Given the description of an element on the screen output the (x, y) to click on. 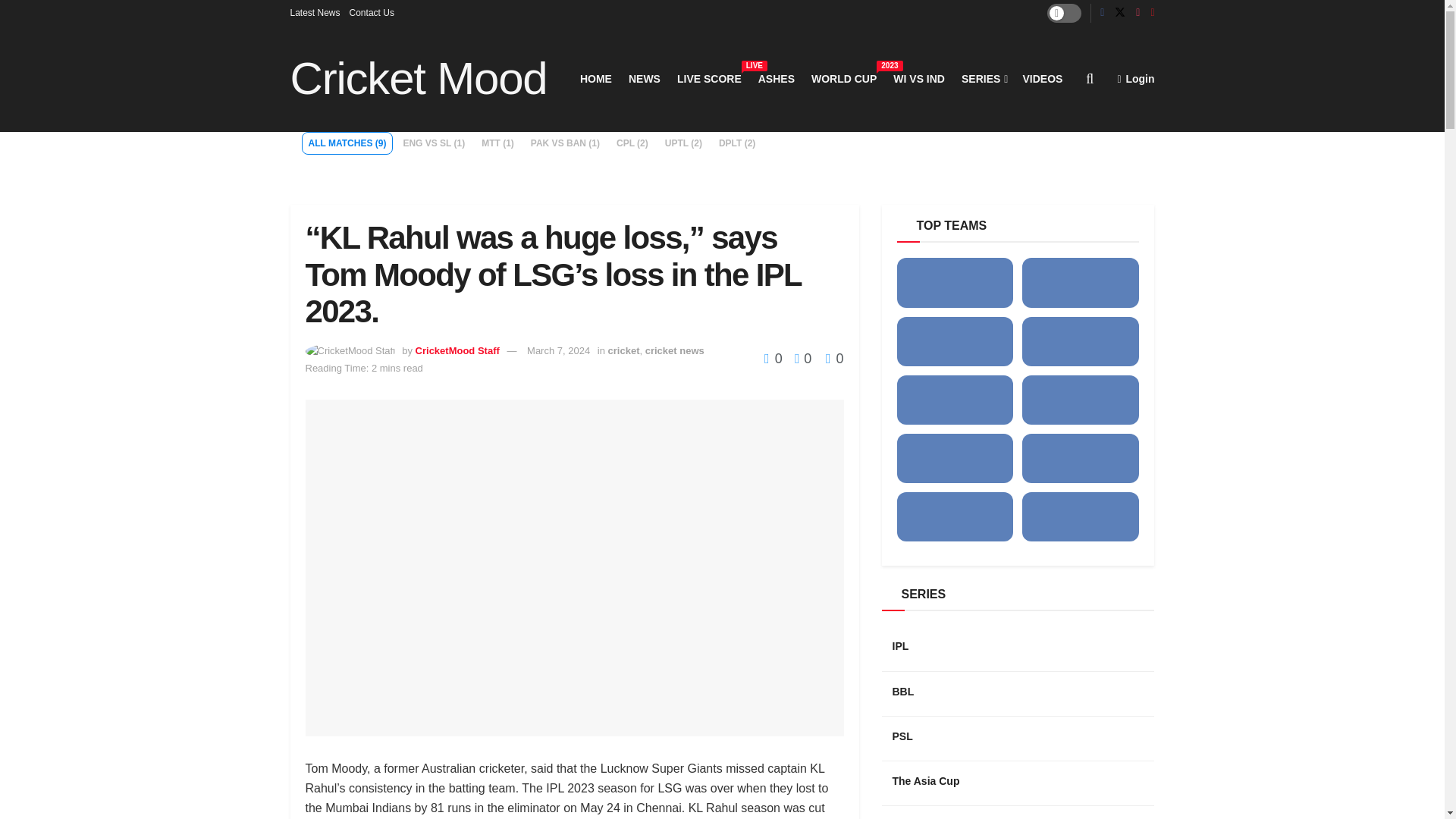
Login (1135, 78)
Cricket Mood (418, 78)
Contact Us (371, 12)
VIDEOS (1042, 78)
SERIES (709, 78)
Latest News (983, 78)
HOME (314, 12)
WI VS IND (595, 78)
